Given the description of an element on the screen output the (x, y) to click on. 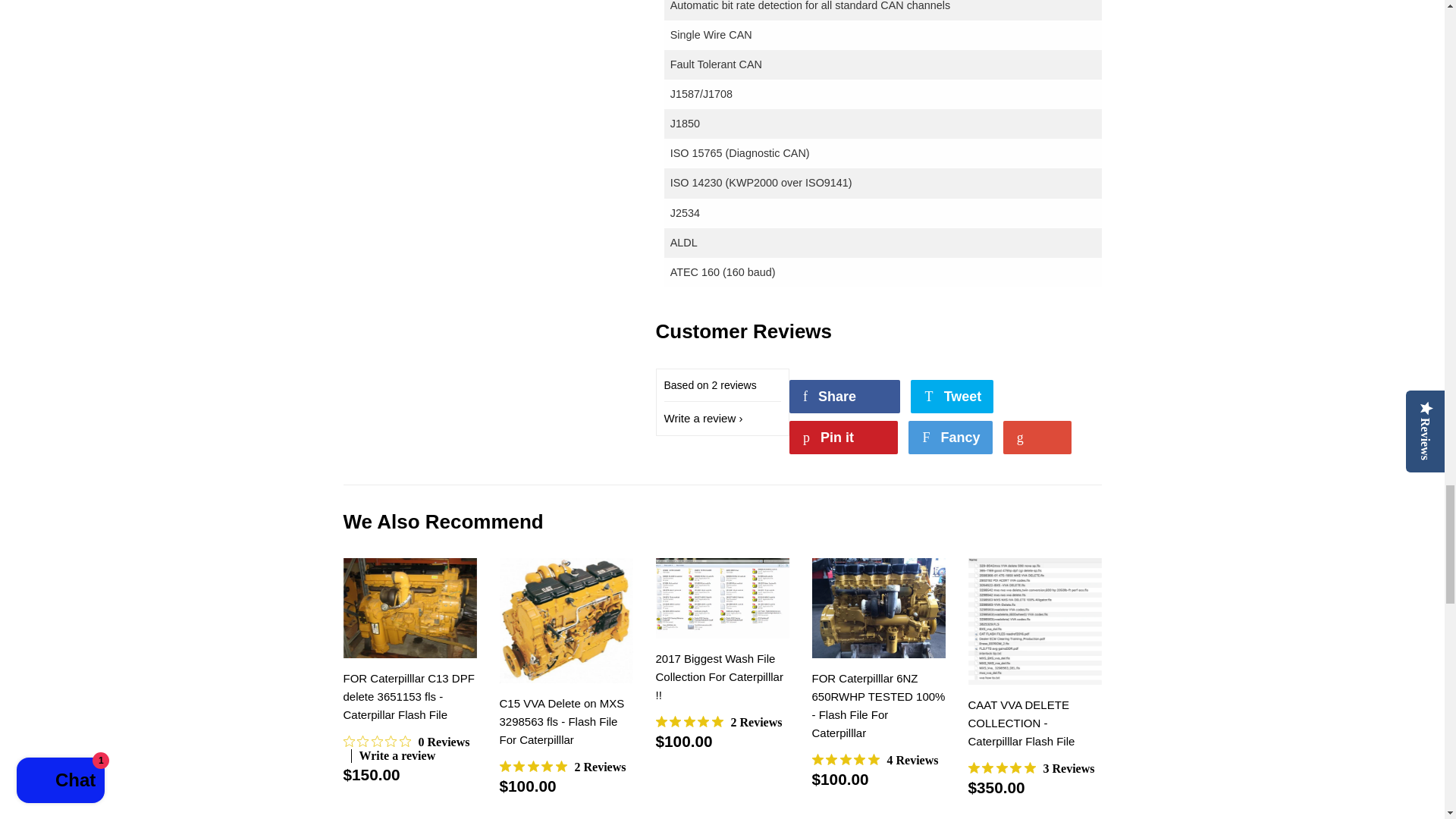
2 Reviews (718, 722)
3 Reviews (1031, 768)
4 Reviews (409, 748)
2 Reviews (873, 760)
